Given the description of an element on the screen output the (x, y) to click on. 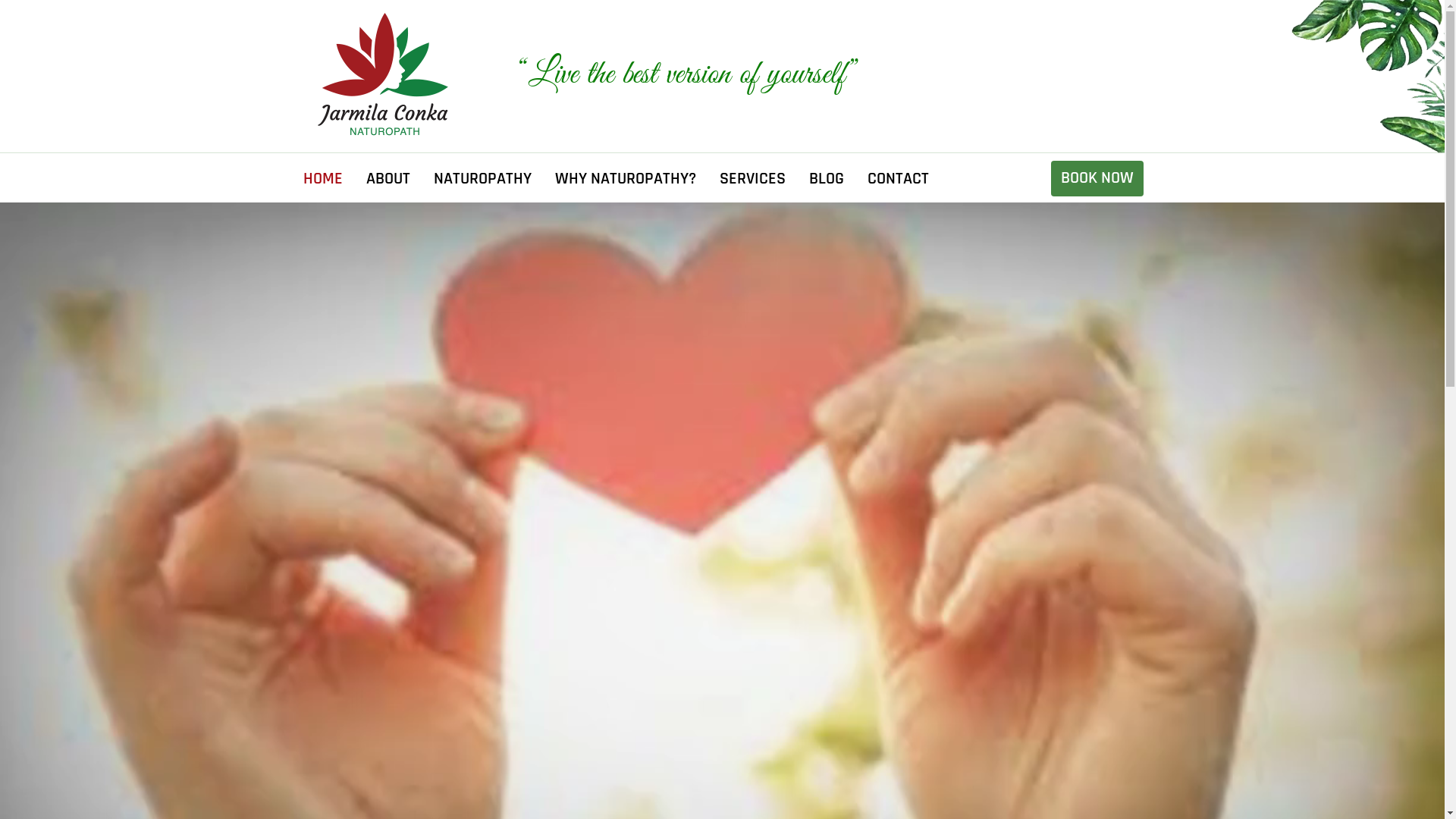
ABOUT Element type: text (387, 178)
NATUROPATHY Element type: text (482, 178)
CONTACT Element type: text (897, 178)
SERVICES Element type: text (751, 178)
HOME Element type: text (322, 178)
BOOK NOW Element type: text (1097, 178)
WHY NATUROPATHY? Element type: text (625, 178)
BLOG Element type: text (825, 178)
SKIP TO CONTENT Element type: text (300, 152)
